Given the description of an element on the screen output the (x, y) to click on. 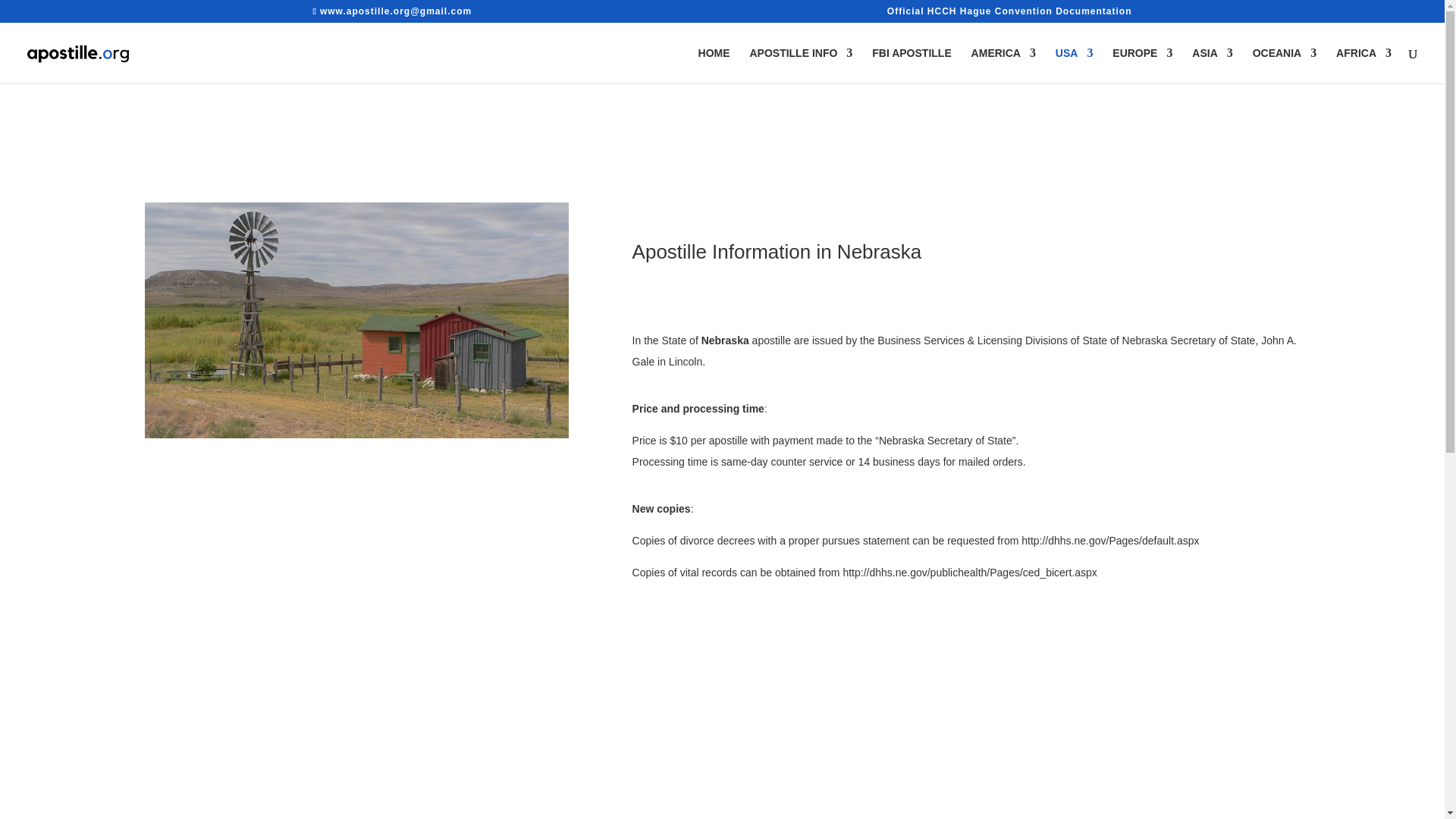
APOSTILLE INFO (800, 65)
FBI APOSTILLE (911, 65)
HOME (714, 65)
USA (1074, 65)
Official HCCH Hague Convention Documentation (1009, 14)
AMERICA (1003, 65)
